Given the description of an element on the screen output the (x, y) to click on. 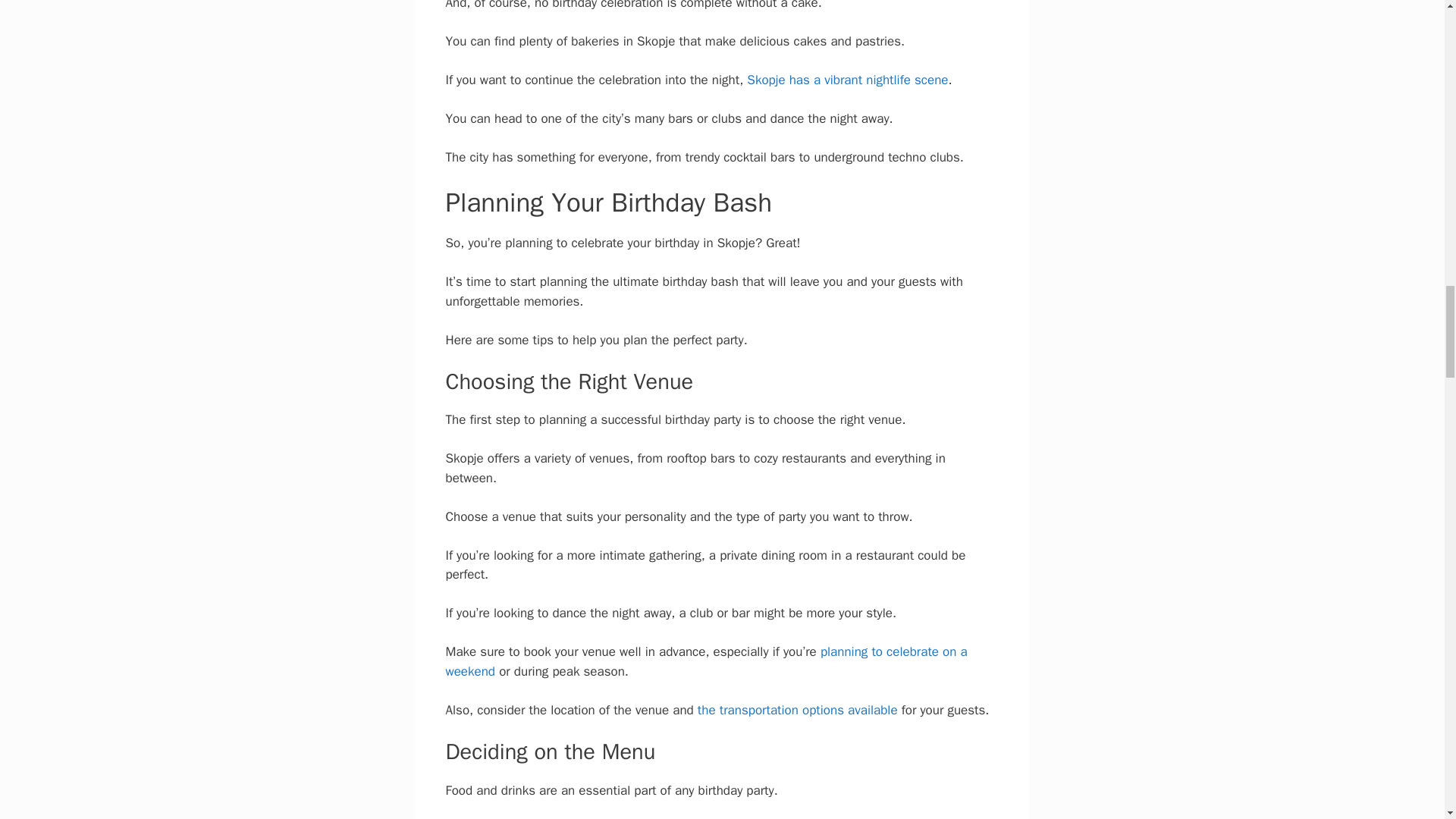
the transportation options available (797, 709)
Skopje has a vibrant nightlife scene (846, 79)
planning to celebrate on a weekend (706, 661)
